Given the description of an element on the screen output the (x, y) to click on. 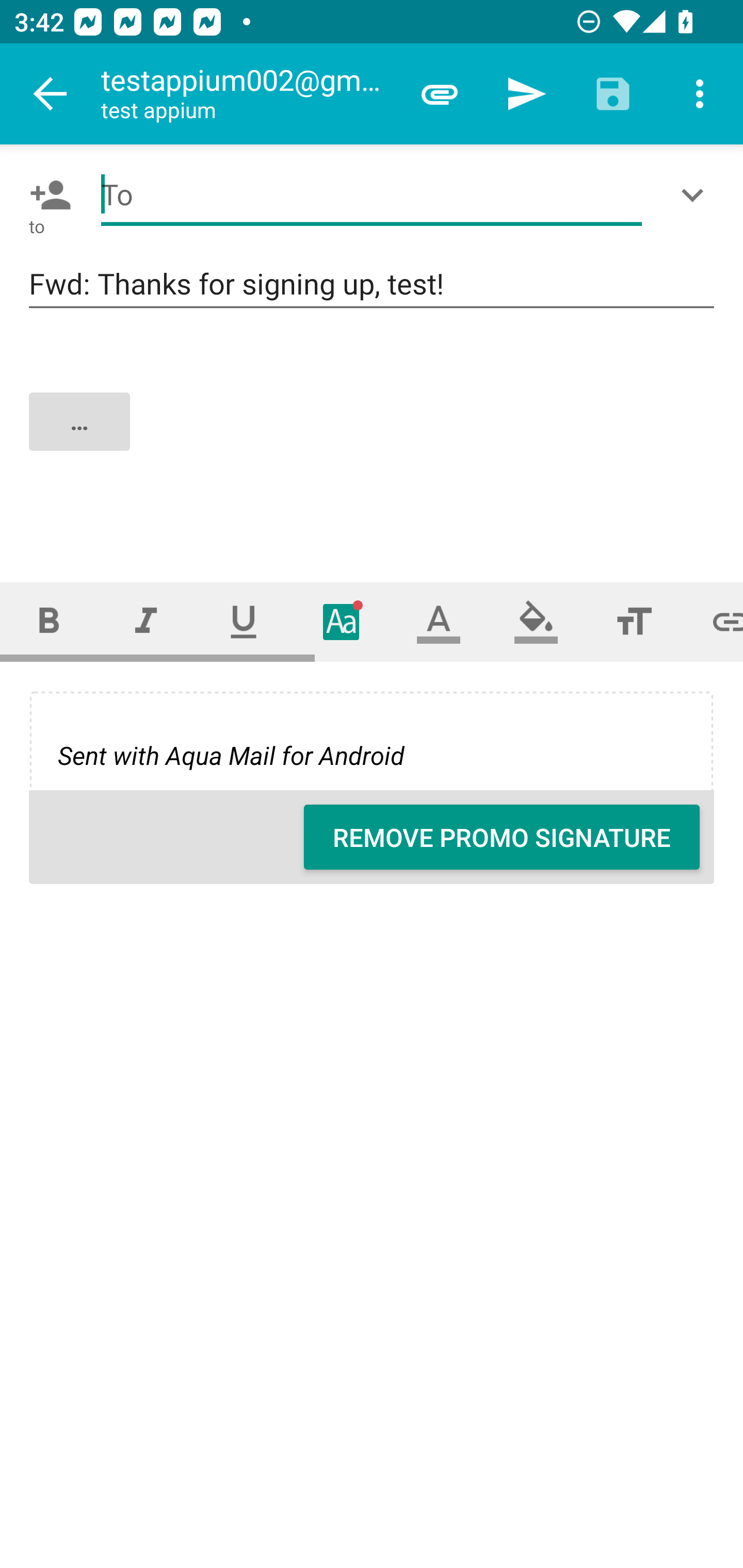
Navigate up (50, 93)
testappium002@gmail.com test appium (248, 93)
Attach (439, 93)
Send (525, 93)
Save (612, 93)
More options (699, 93)
Pick contact: To (46, 195)
Show/Add CC/BCC (696, 195)
To (371, 195)
Fwd: Thanks for signing up, test! (371, 284)

…
 (372, 438)
Bold (48, 621)
Italic (145, 621)
Underline (243, 621)
Typeface (font) (341, 621)
Text color (438, 621)
Fill color (536, 621)
Font size (633, 621)
REMOVE PROMO SIGNATURE (501, 837)
